Given the description of an element on the screen output the (x, y) to click on. 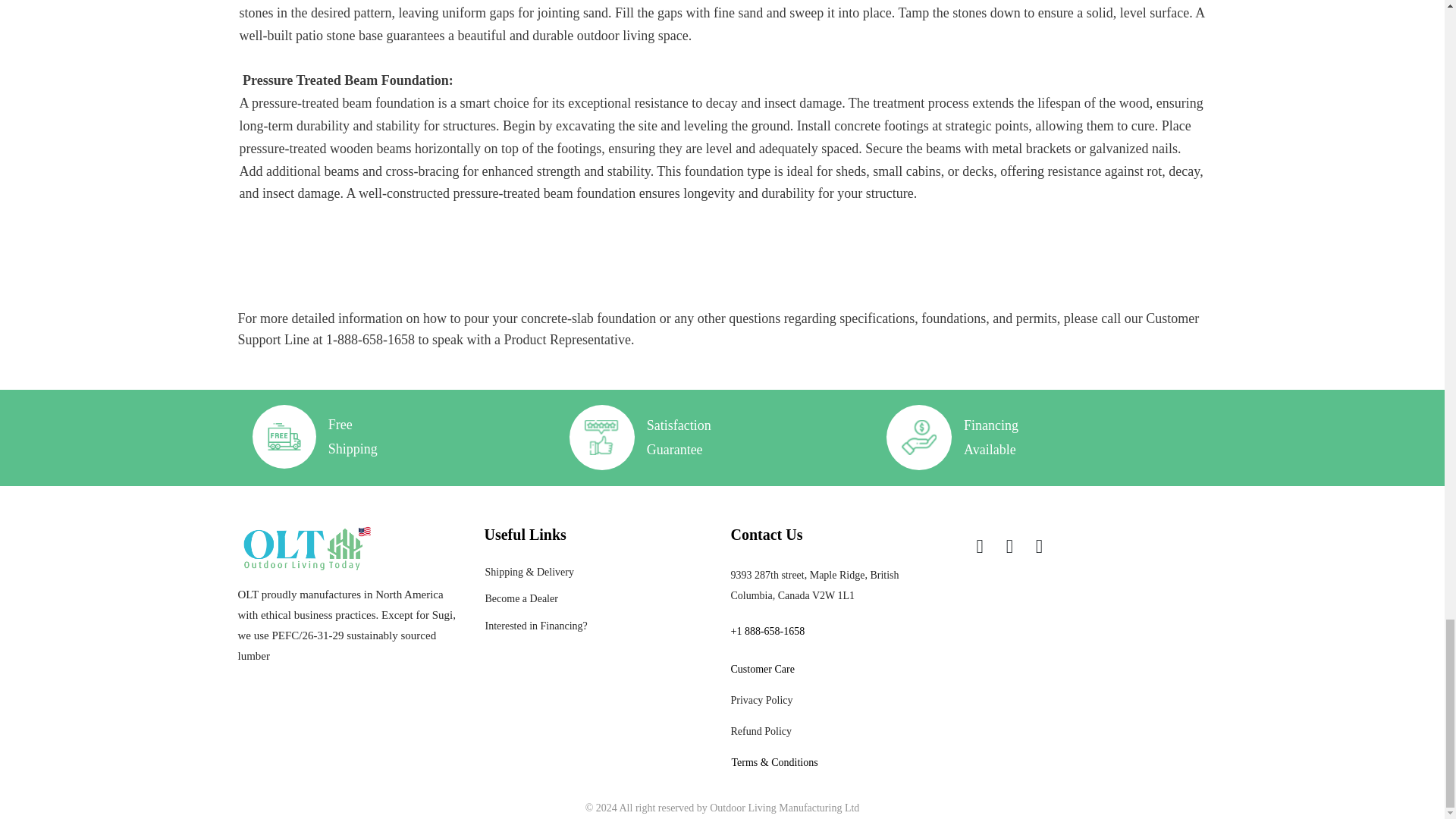
Customer Care (762, 668)
Interested in Financing? (536, 625)
Become a Dealer (520, 598)
Refund Policy (761, 731)
Privacy Policy (761, 699)
